Given the description of an element on the screen output the (x, y) to click on. 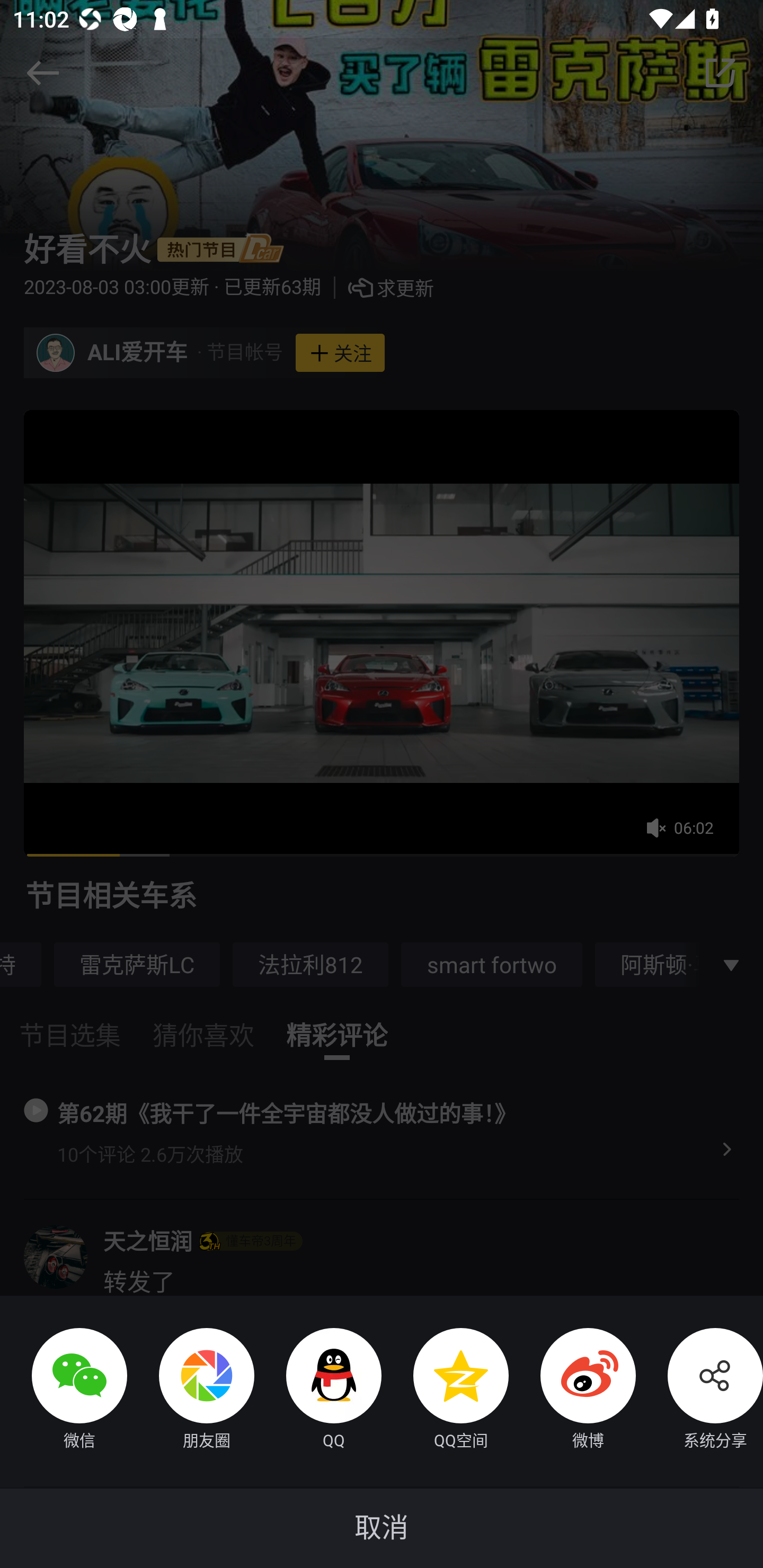
微信 (63, 1390)
朋友圈 (190, 1390)
QQ (317, 1390)
QQ空间 (444, 1390)
微博 (571, 1390)
系统分享 (699, 1390)
取消 (381, 1528)
